Given the description of an element on the screen output the (x, y) to click on. 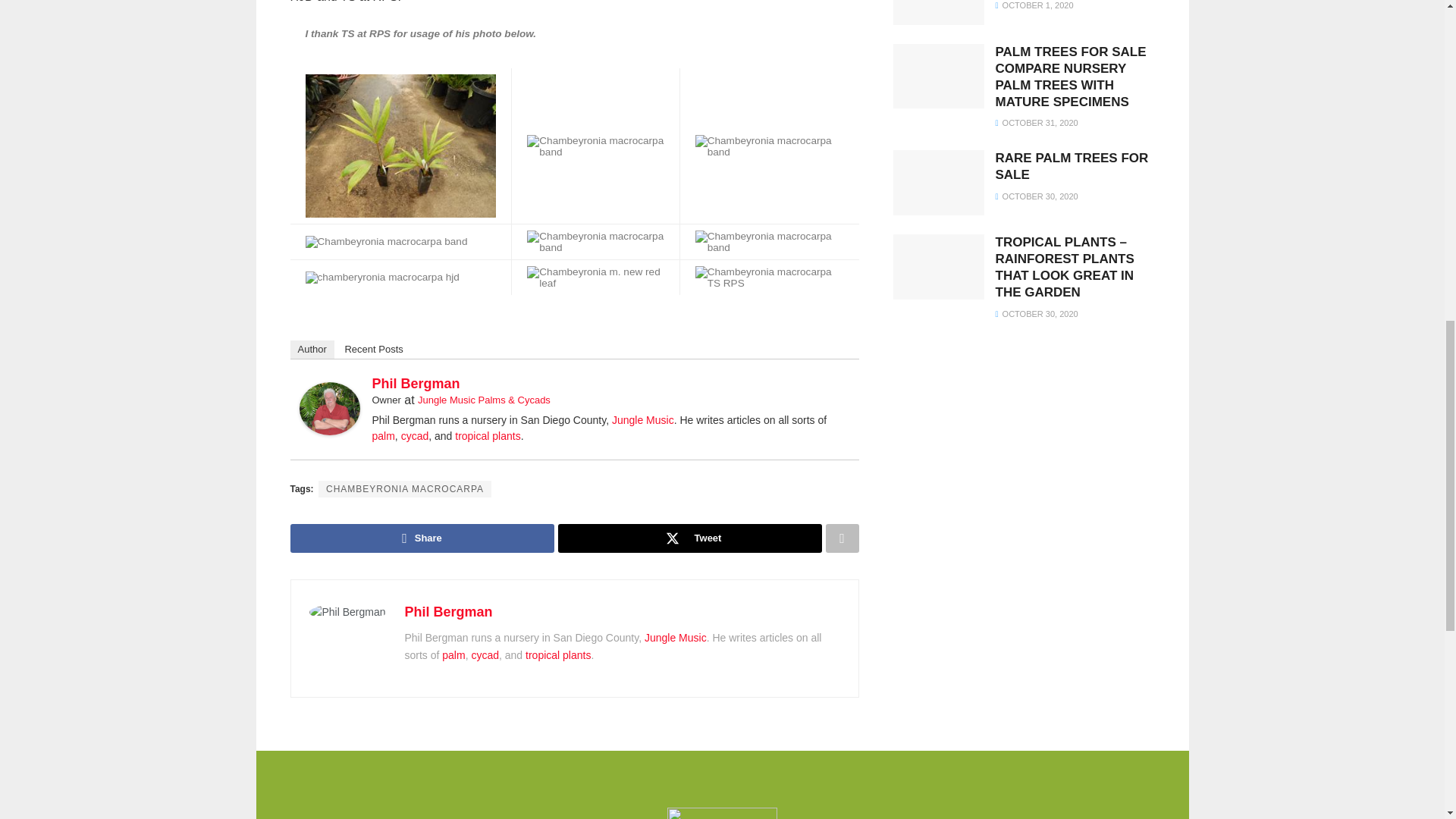
junglemusic-145-logo-1 (721, 813)
Phil Bergman (328, 407)
